Given the description of an element on the screen output the (x, y) to click on. 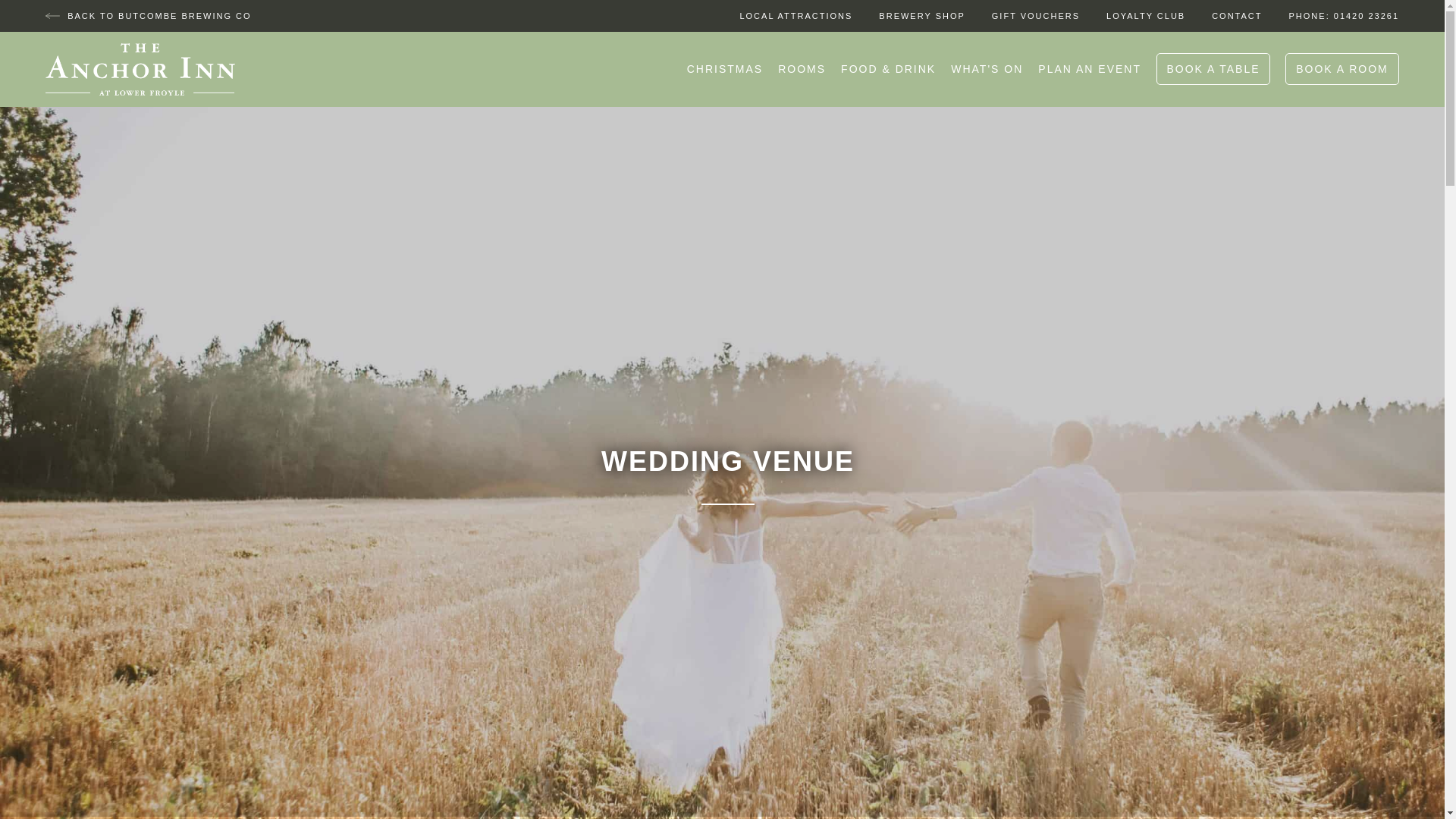
BACK TO BUTCOMBE BREWING CO (148, 15)
CHRISTMAS (724, 69)
PHONE: 01420 23261 (1343, 15)
BOOK A ROOM (1342, 69)
GIFT VOUCHERS (1035, 15)
ROOMS (801, 69)
WHAT'S ON (986, 69)
LOYALTY CLUB (1145, 15)
BOOK A TABLE (1212, 69)
LOCAL ATTRACTIONS (795, 15)
CONTACT (1236, 15)
PLAN AN EVENT (1089, 69)
BREWERY SHOP (921, 15)
Return to homepage (139, 69)
